Given the description of an element on the screen output the (x, y) to click on. 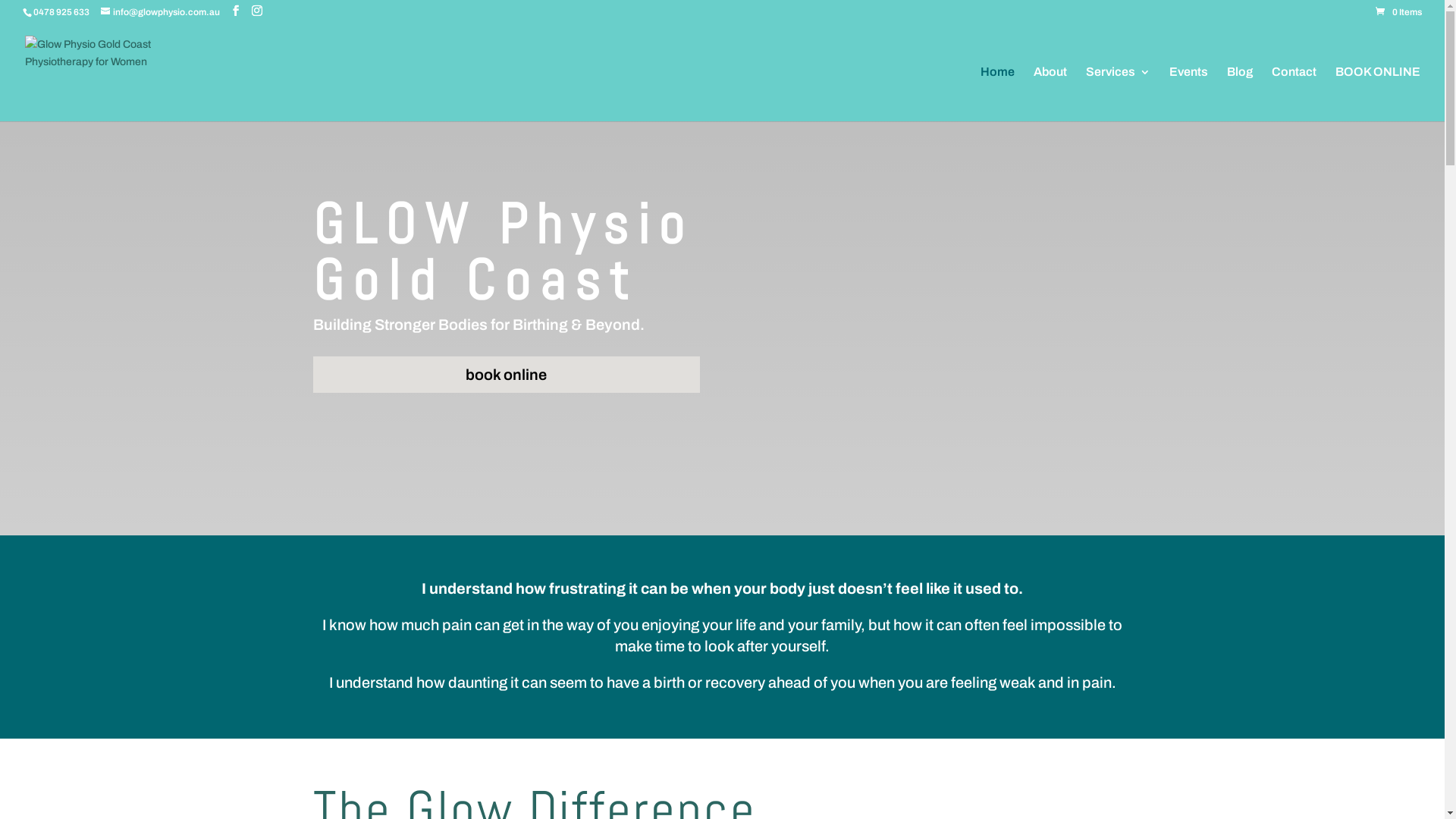
Services Element type: text (1117, 93)
BOOK ONLINE Element type: text (1377, 93)
Contact Element type: text (1293, 93)
Blog Element type: text (1239, 93)
info@glowphysio.com.au Element type: text (159, 11)
0 Items Element type: text (1398, 11)
book online Element type: text (505, 374)
Home Element type: text (997, 93)
Events Element type: text (1188, 93)
About Element type: text (1049, 93)
